Given the description of an element on the screen output the (x, y) to click on. 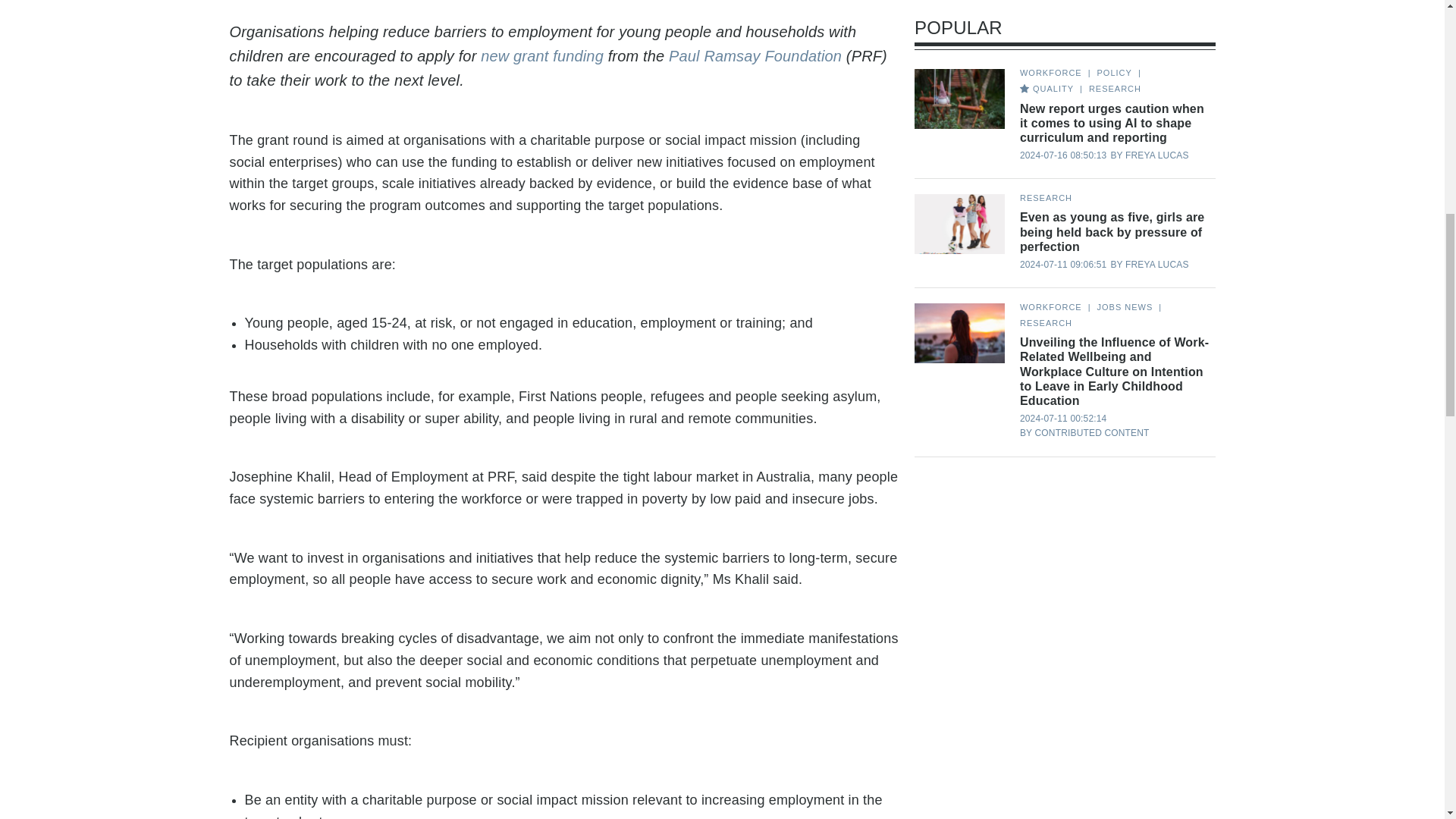
Paul Ramsay Foundation (756, 55)
new grant funding (542, 55)
